Given the description of an element on the screen output the (x, y) to click on. 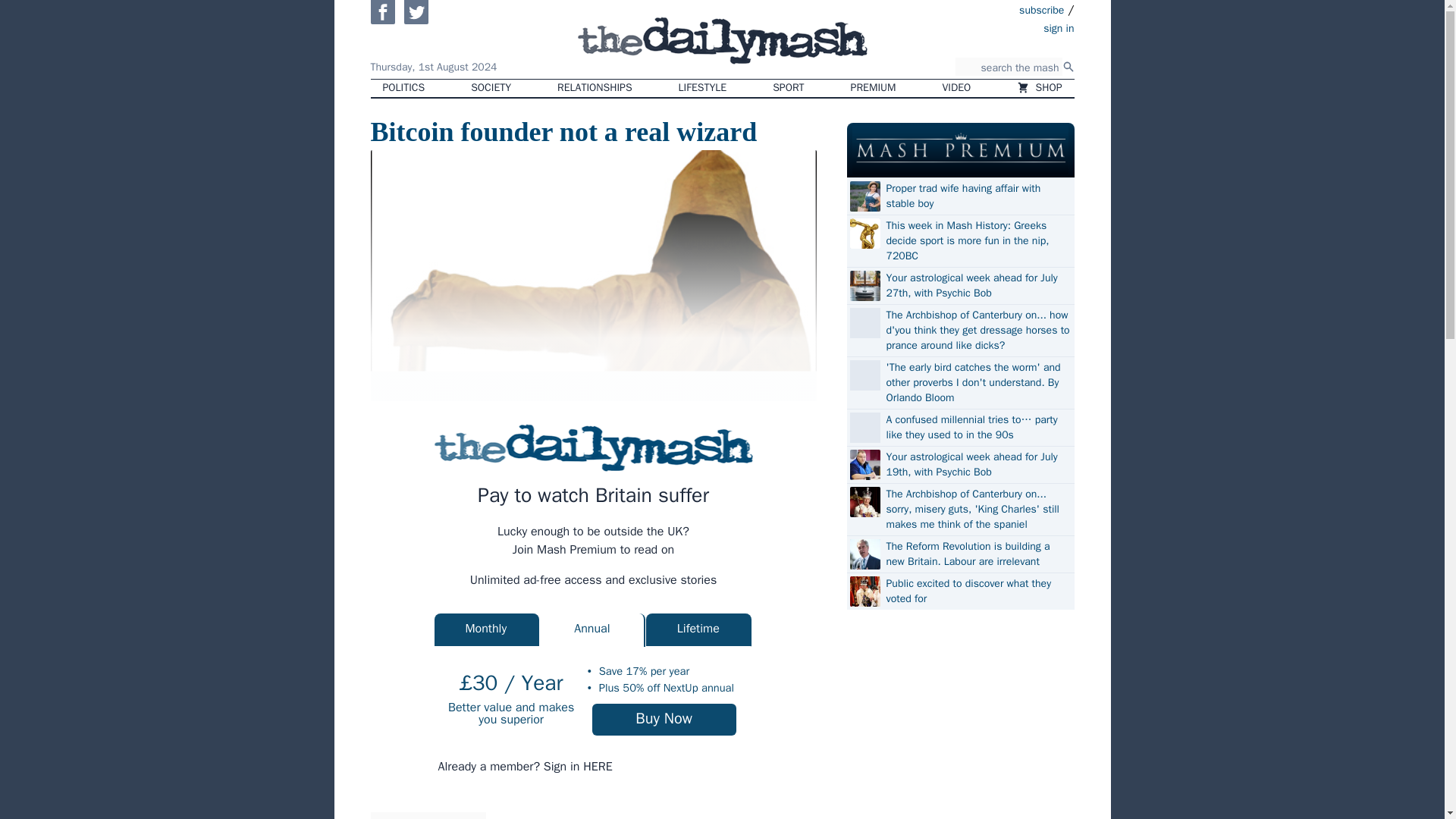
Proper trad wife having affair with stable boy (977, 195)
SHOP (1039, 88)
POLITICS (402, 88)
Your astrological week ahead for July 27th, with Psychic Bob (977, 286)
Buy Now (664, 719)
SPORT (787, 88)
RELATIONSHIPS (593, 88)
sign in (970, 27)
VIDEO (957, 88)
subscribe (1041, 9)
PREMIUM (873, 88)
LIFESTYLE (702, 88)
